Given the description of an element on the screen output the (x, y) to click on. 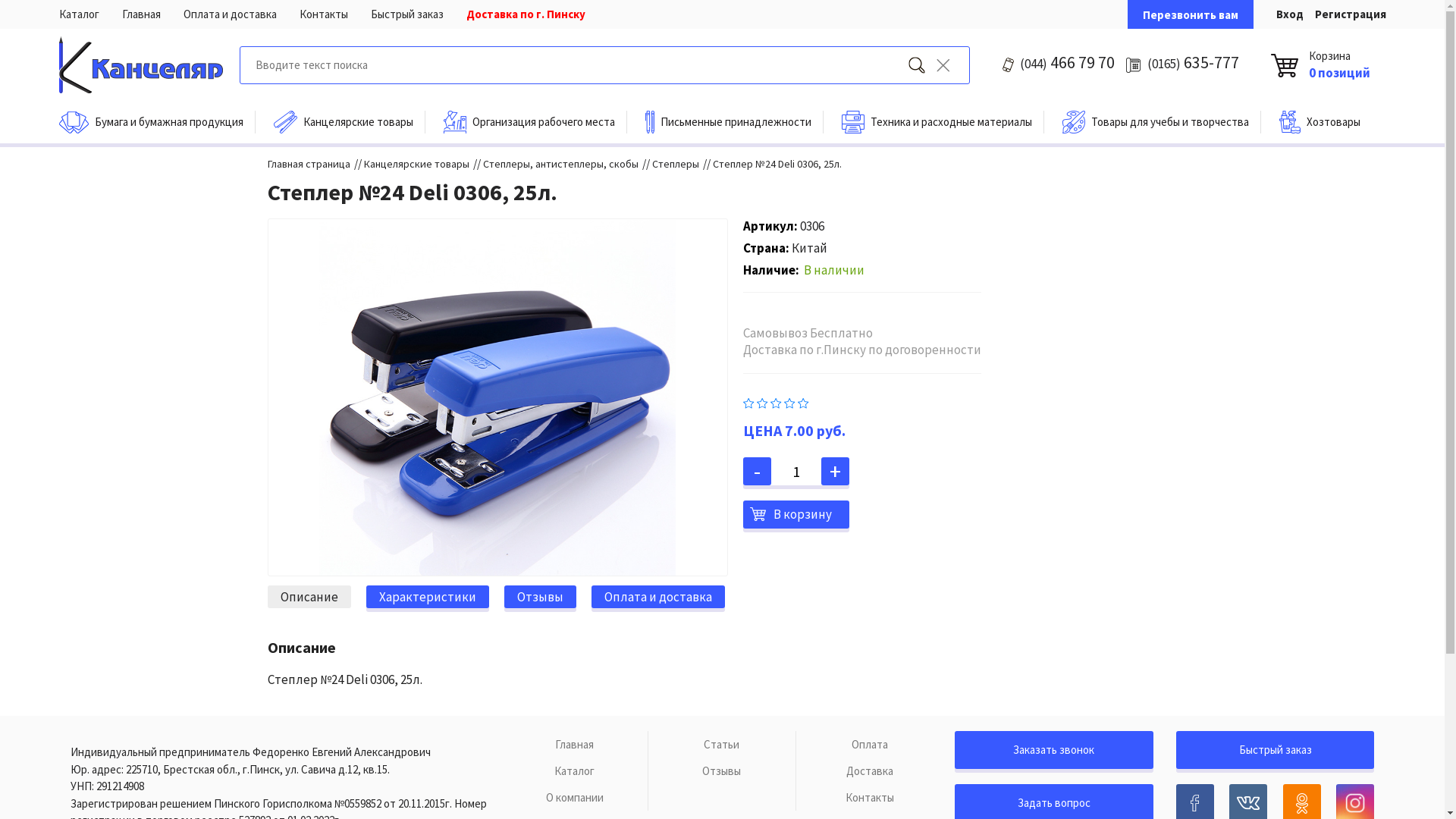
1 Element type: hover (748, 401)
5 Element type: hover (803, 401)
4 Element type: hover (789, 401)
2 Element type: hover (762, 401)
3 Element type: hover (775, 401)
(044) 466 79 70 Element type: text (1066, 62)
(0165) 635-777 Element type: text (1193, 62)
